Given the description of an element on the screen output the (x, y) to click on. 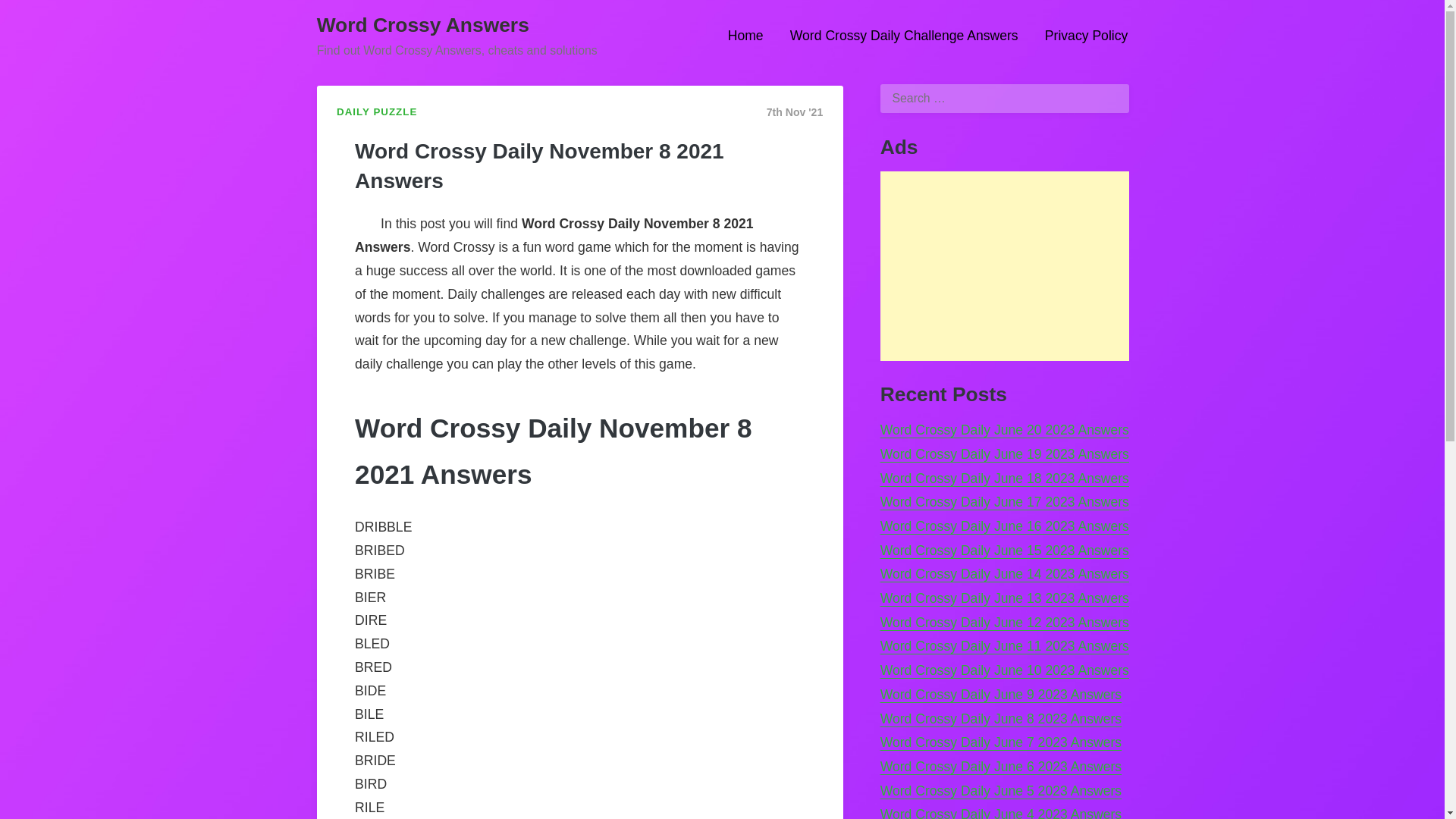
Word Crossy Daily June 16 2023 Answers (1004, 525)
Privacy Policy (1081, 36)
Word Crossy Daily June 4 2023 Answers (1000, 812)
Word Crossy Daily June 12 2023 Answers (1004, 622)
Word Crossy Daily Challenge Answers (903, 36)
Word Crossy Daily June 8 2023 Answers (1000, 718)
Word Crossy Daily June 14 2023 Answers (1004, 573)
Word Crossy Daily June 6 2023 Answers (1000, 766)
Word Crossy Daily June 5 2023 Answers (1000, 790)
Word Crossy Daily June 15 2023 Answers (1004, 549)
Word Crossy Daily June 19 2023 Answers (1004, 453)
Word Crossy Daily June 9 2023 Answers (1000, 694)
Word Crossy Answers (423, 24)
DAILY PUZZLE (376, 112)
Word Crossy Daily June 13 2023 Answers (1004, 598)
